Given the description of an element on the screen output the (x, y) to click on. 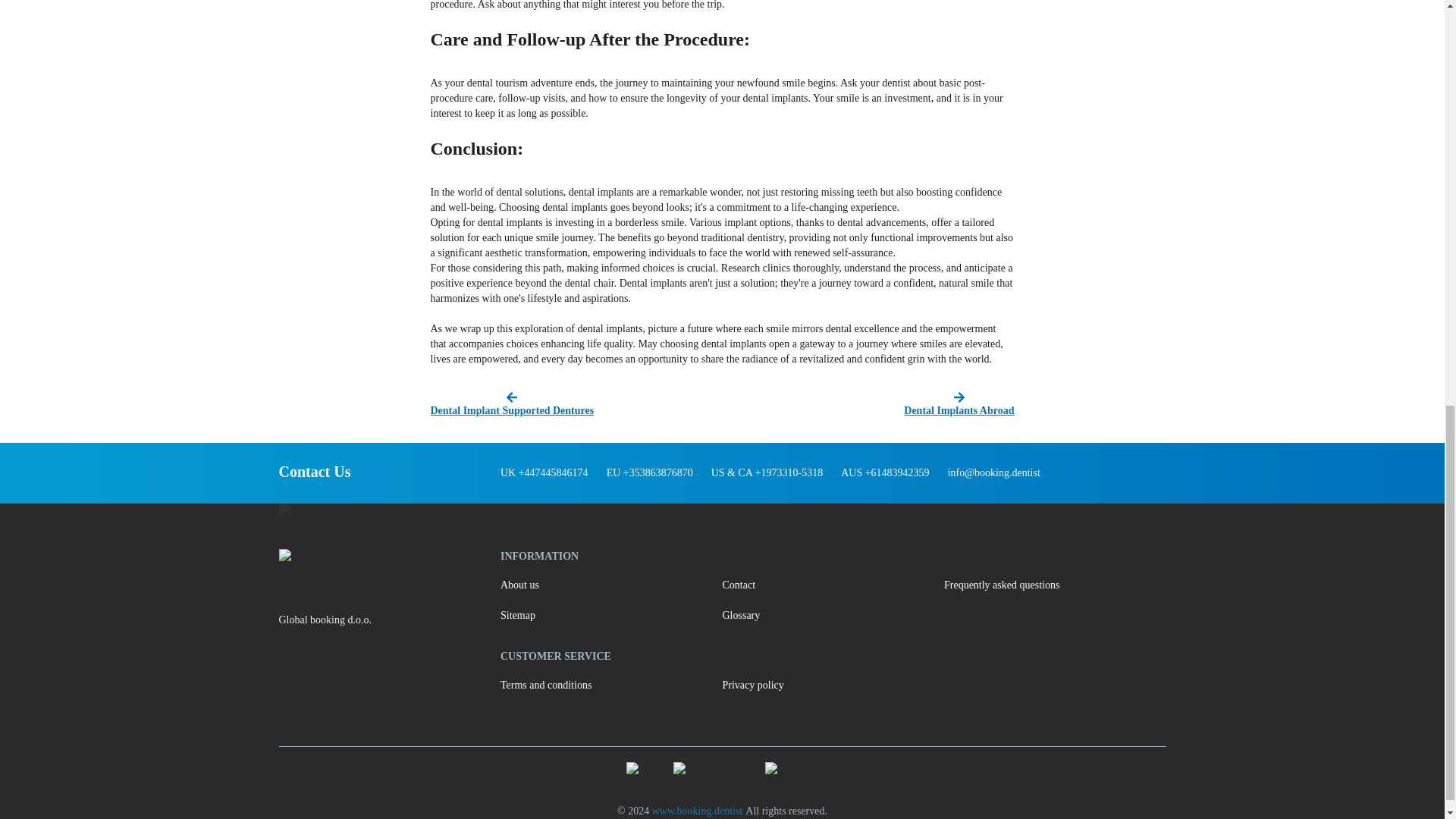
Dental Implants Abroad (869, 404)
Contact (832, 585)
Dental Implant Supported Dentures (573, 404)
Glossary (832, 615)
Terms and conditions (611, 685)
Frequently asked questions (1054, 585)
www.booking.dentist (697, 810)
Sitemap (611, 615)
Privacy policy (832, 685)
About us (611, 585)
